Given the description of an element on the screen output the (x, y) to click on. 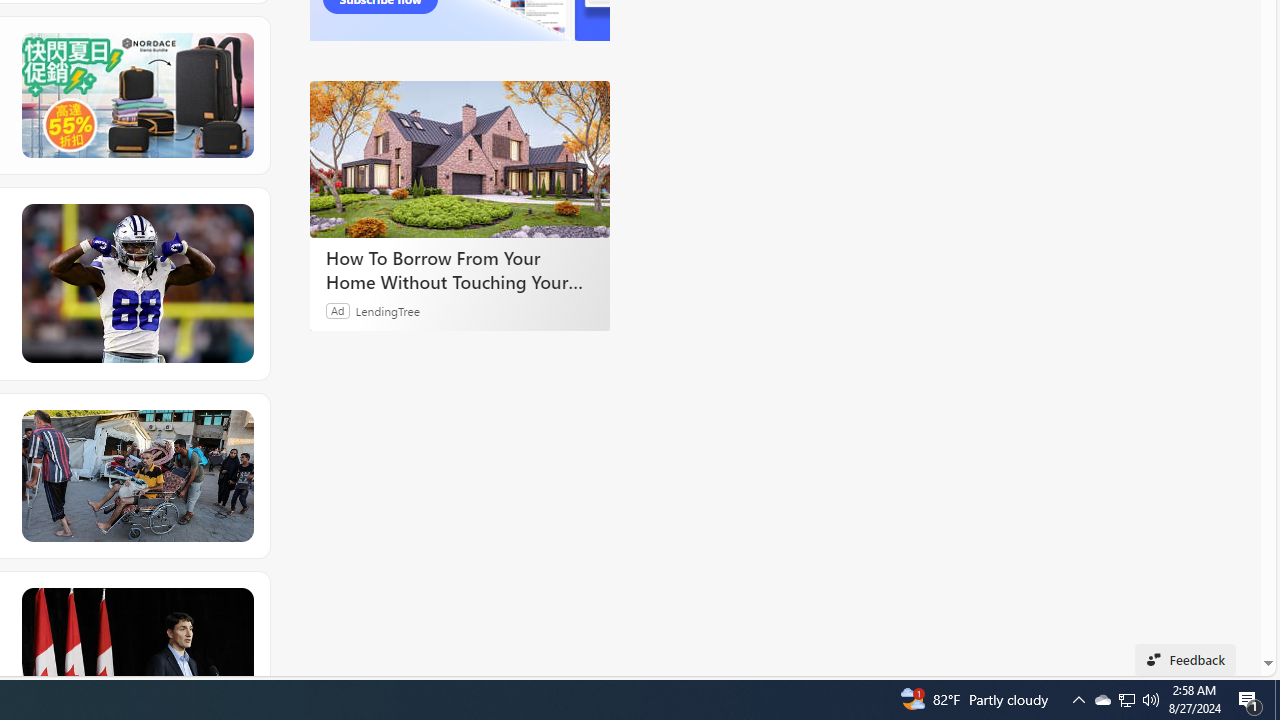
Ad (338, 309)
Feedback (1185, 659)
How To Borrow From Your Home Without Touching Your Mortgage (459, 159)
LendingTree (387, 309)
How To Borrow From Your Home Without Touching Your Mortgage (459, 269)
See more (239, 602)
